Given the description of an element on the screen output the (x, y) to click on. 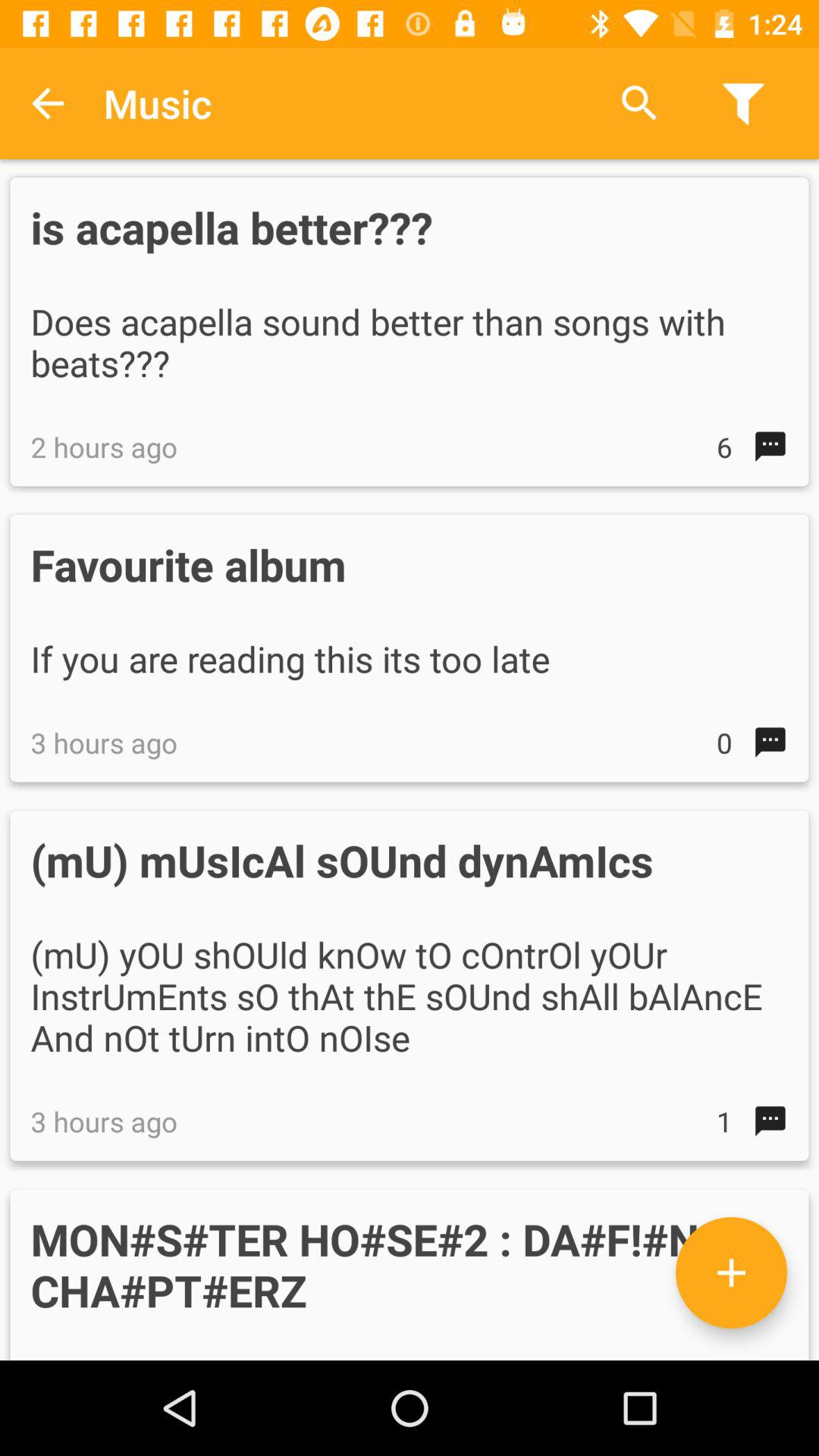
choose icon above the is acapella better??? item (639, 103)
